Given the description of an element on the screen output the (x, y) to click on. 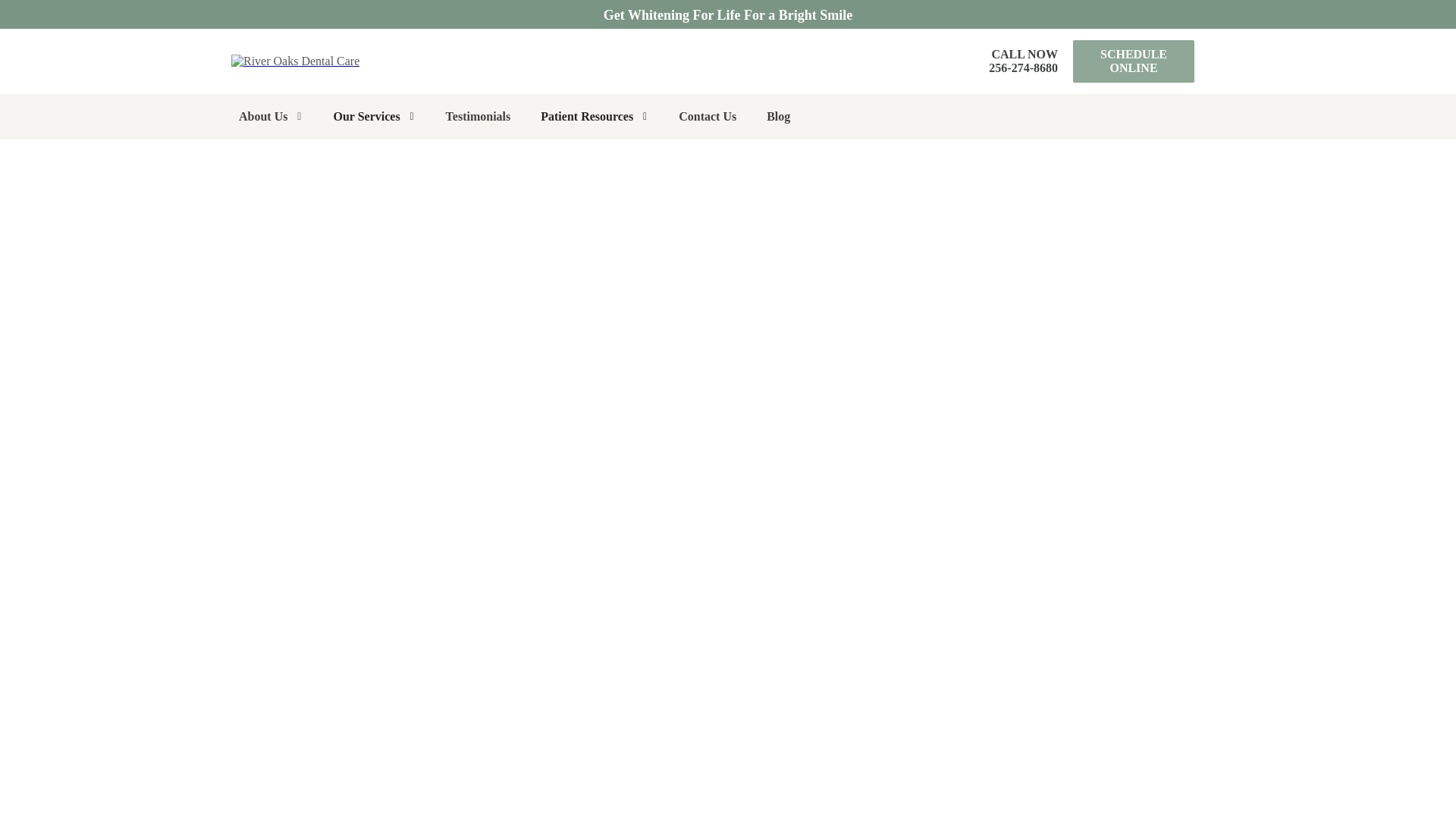
SCHEDULE ONLINE (1133, 61)
Get Whitening For Life For a Bright Smile (1023, 60)
About Us (727, 14)
